Given the description of an element on the screen output the (x, y) to click on. 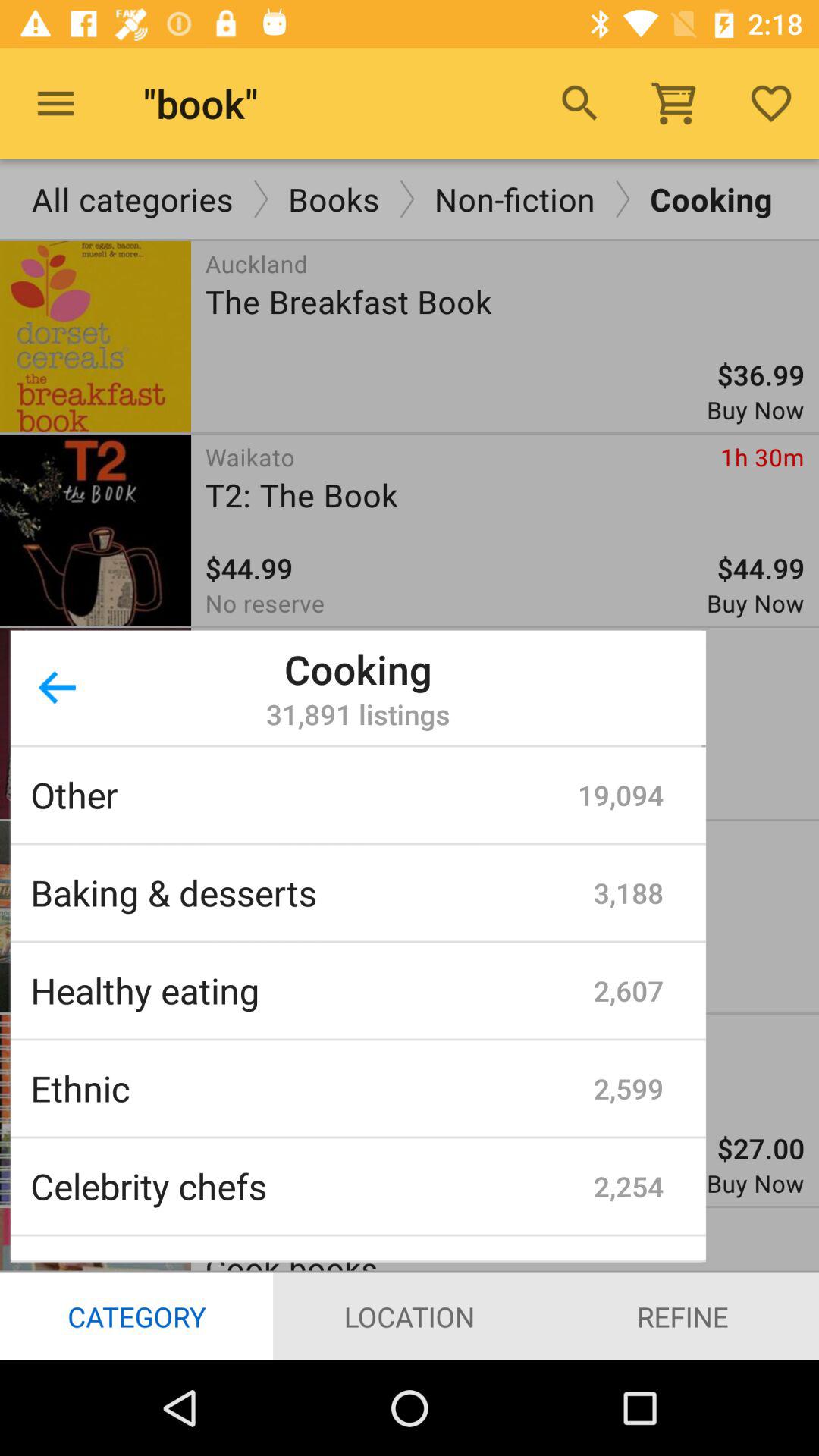
tap item to the left of 2,254 (311, 1185)
